Given the description of an element on the screen output the (x, y) to click on. 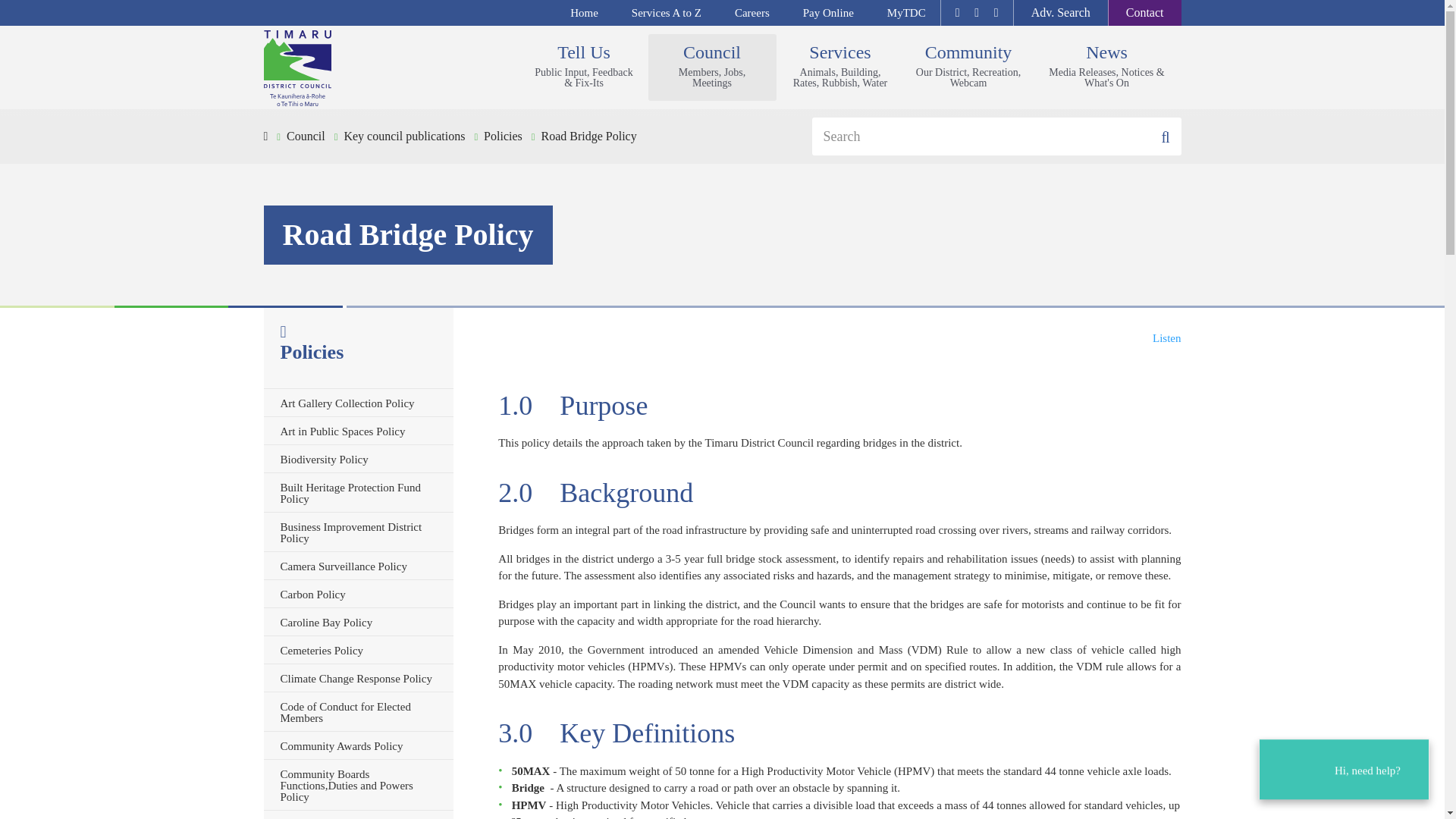
Services A to Z (665, 12)
Pay Online (828, 12)
Home (583, 12)
Careers (751, 12)
Have a query or feedback? Use our online form.  (1144, 12)
MyTDC (840, 67)
View info about the accessibility features of this website. (905, 12)
Go to Homepage - Timaru District Council website.  (828, 12)
Listen to this page using ReadSpeaker (357, 68)
